Given the description of an element on the screen output the (x, y) to click on. 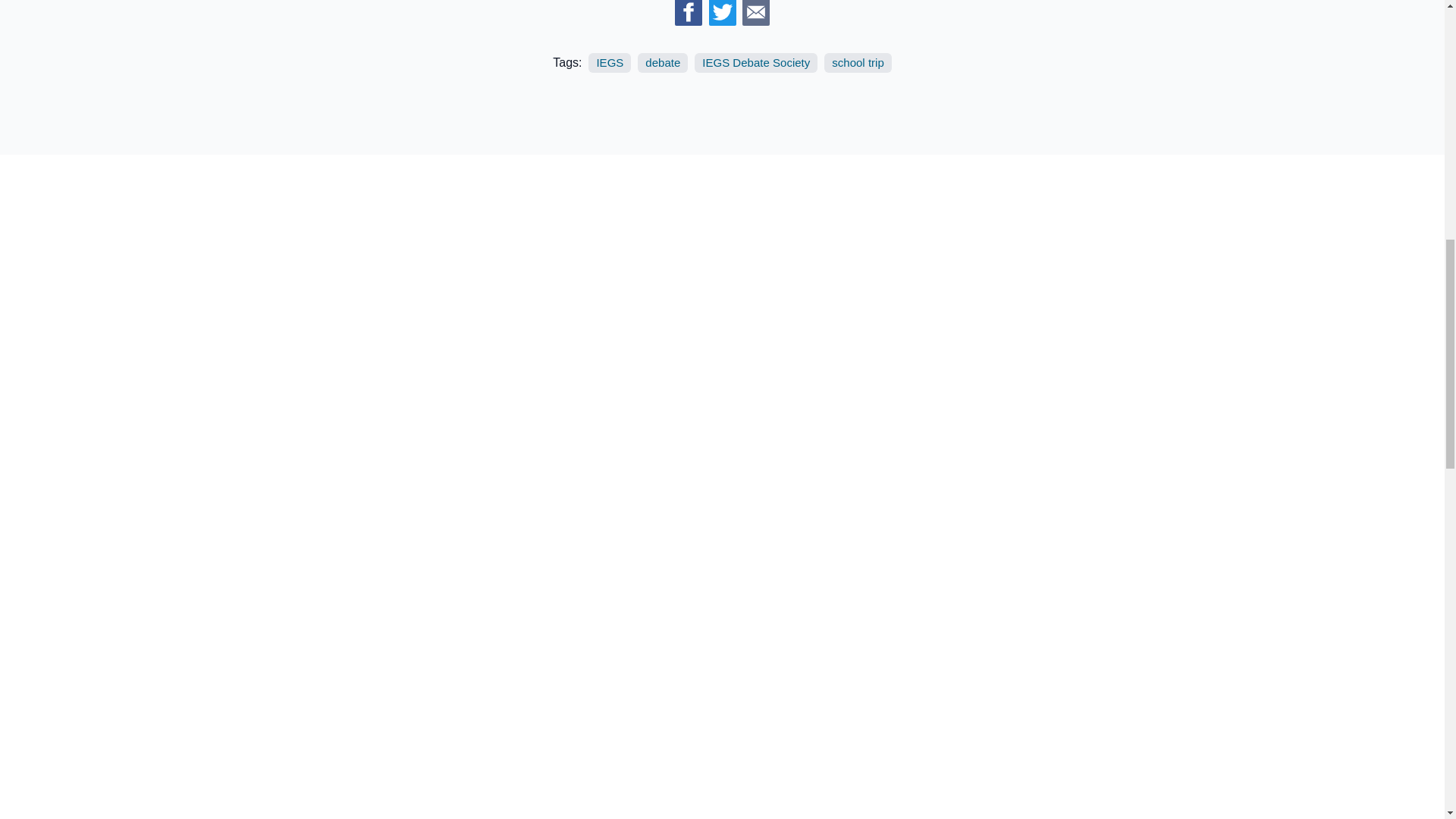
school trip (857, 63)
debate (662, 63)
IEGS (609, 63)
IEGS Debate Society (755, 63)
